Given the description of an element on the screen output the (x, y) to click on. 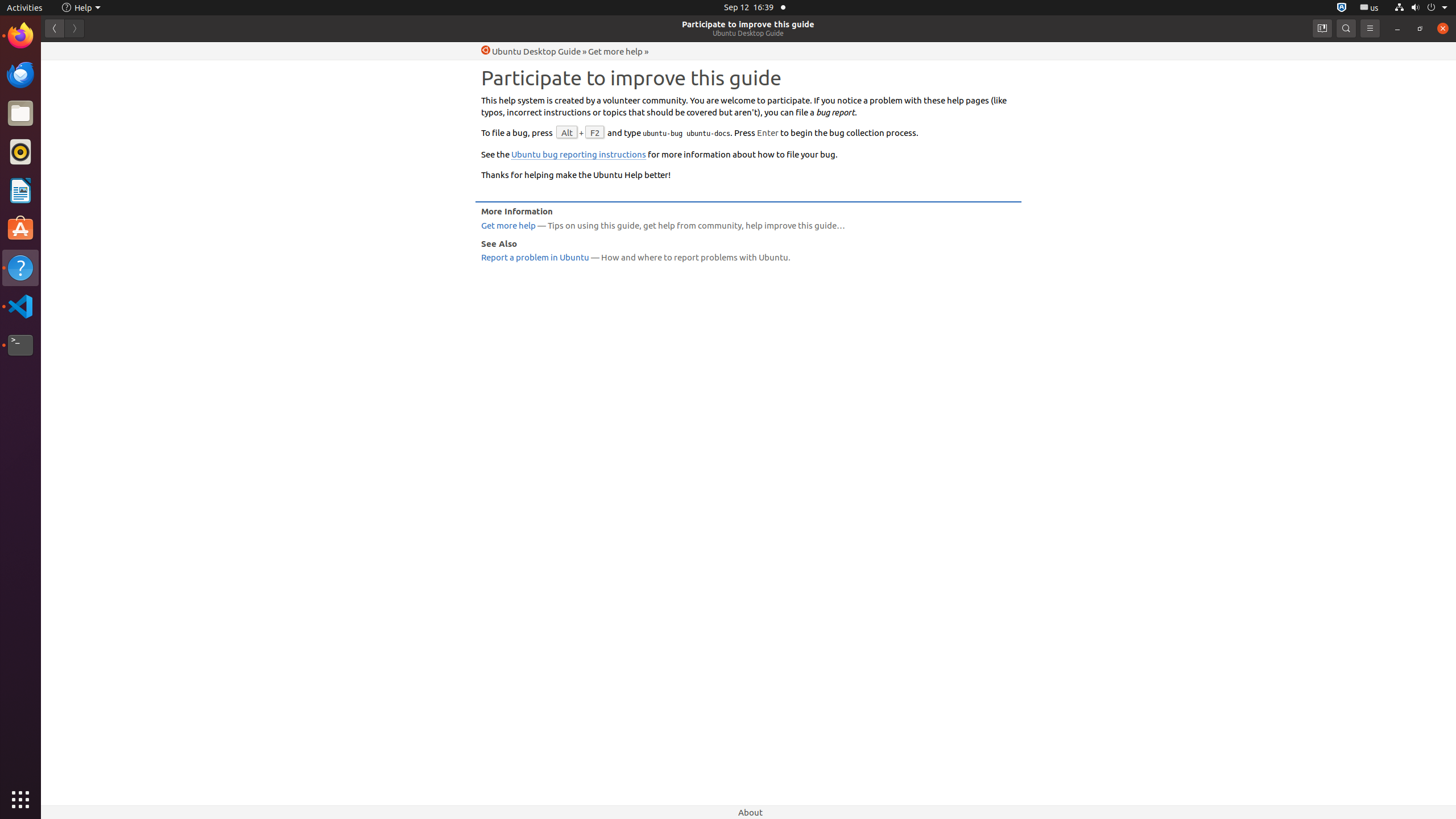
Restore Element type: push-button (1419, 27)
Get more help Element type: link (615, 51)
— , , … Element type: list-item (748, 225)
